Given the description of an element on the screen output the (x, y) to click on. 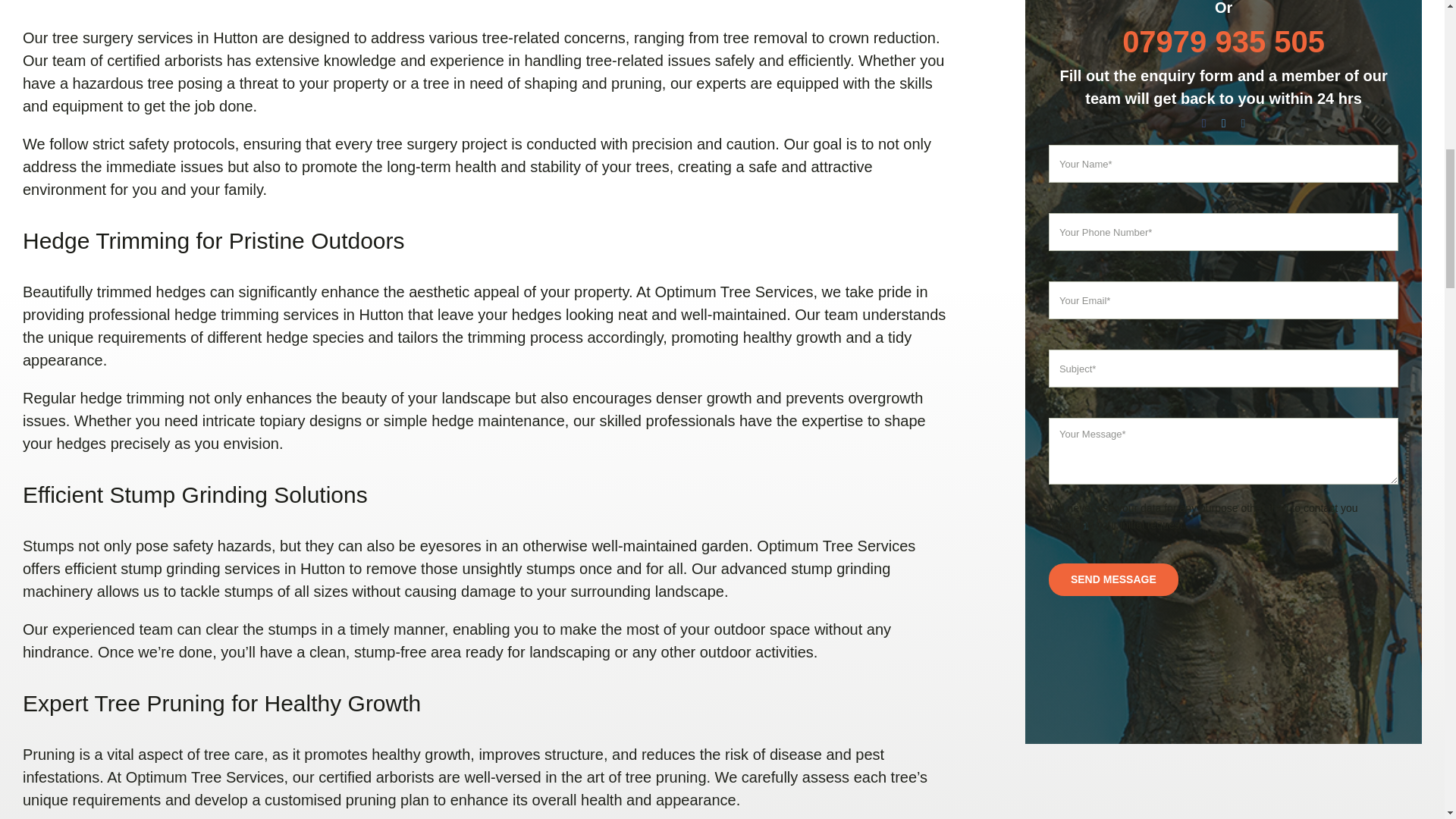
07979 935 505 (1223, 41)
SEND MESSAGE (1112, 579)
